Given the description of an element on the screen output the (x, y) to click on. 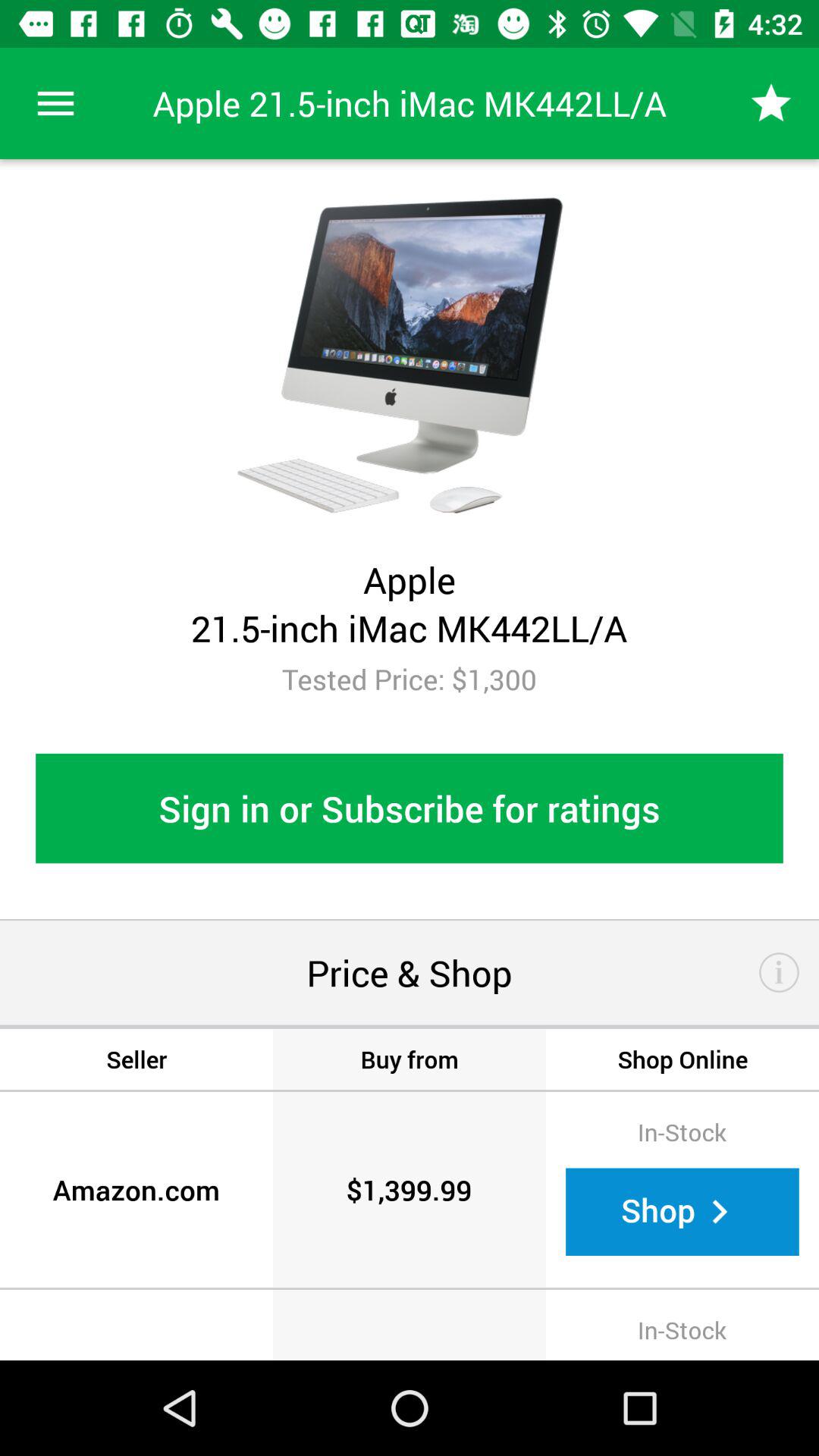
turn off the icon next to the apple 21 5 item (771, 103)
